Given the description of an element on the screen output the (x, y) to click on. 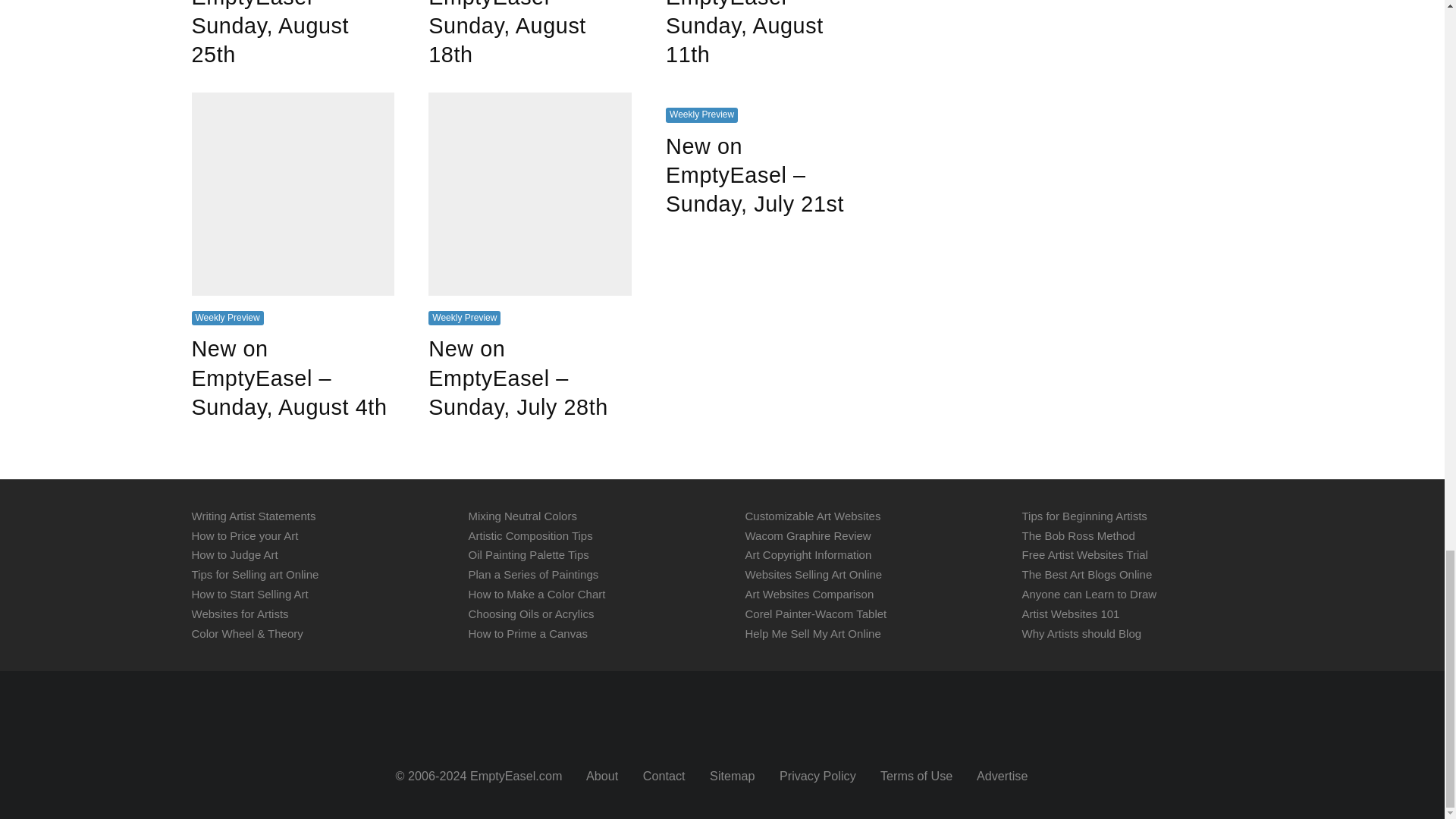
Artist websites that actually help you sell art online (239, 613)
How to create a simple color chart (536, 594)
How to judge art: Five qualities you can critique (234, 554)
Article on how to mix neutral colors like brown and black (522, 515)
A guide to choosing between oil paint and acrylic paint (531, 613)
